Given the description of an element on the screen output the (x, y) to click on. 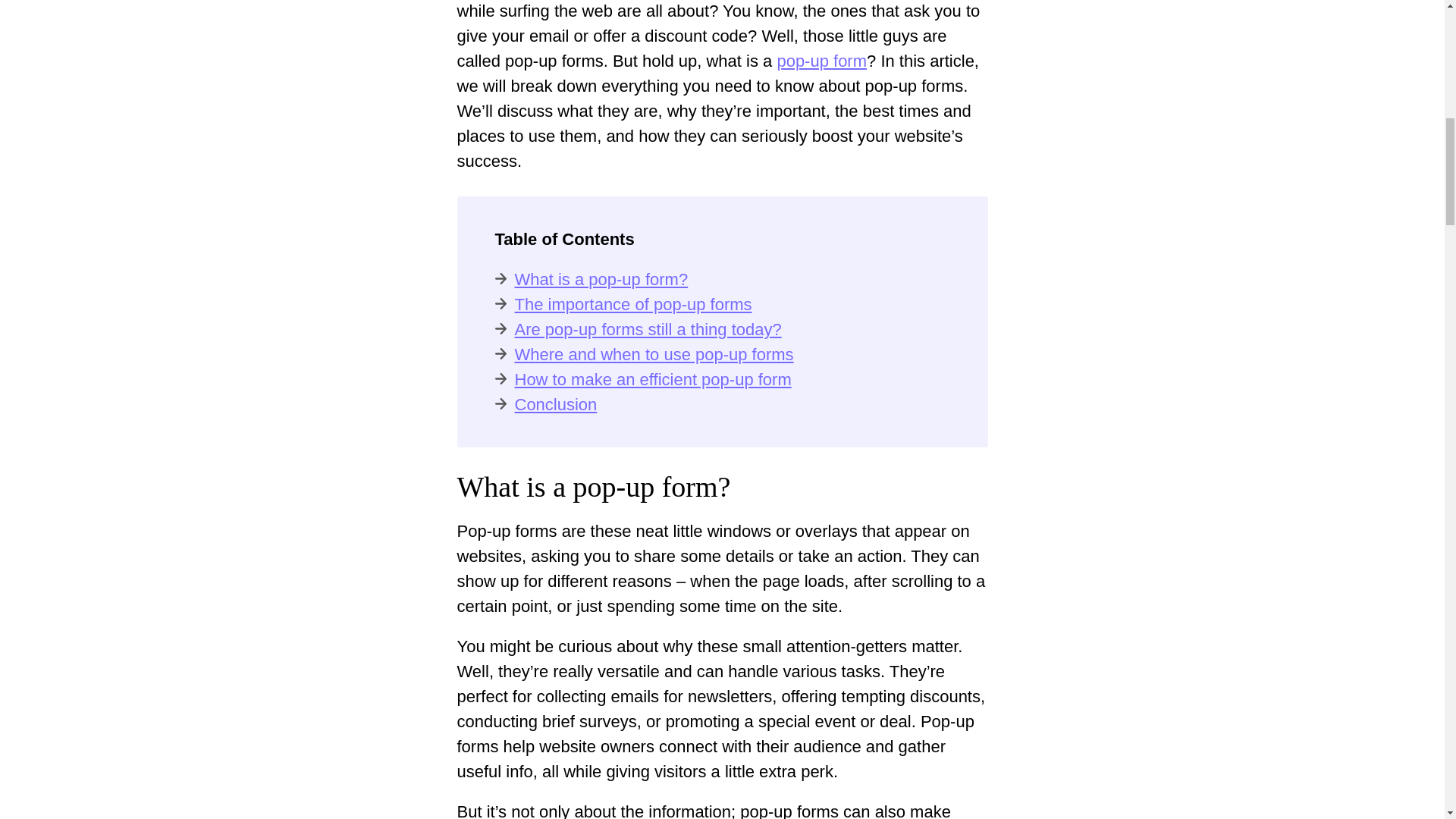
pop-up form (821, 60)
Are pop-up forms still a thing today? (646, 329)
pop-up form (821, 60)
The importance of pop-up forms (632, 303)
Where and when to use pop-up forms (653, 353)
What is a pop-up form? (600, 279)
How to make an efficient pop-up form (651, 379)
Conclusion (554, 404)
